Given the description of an element on the screen output the (x, y) to click on. 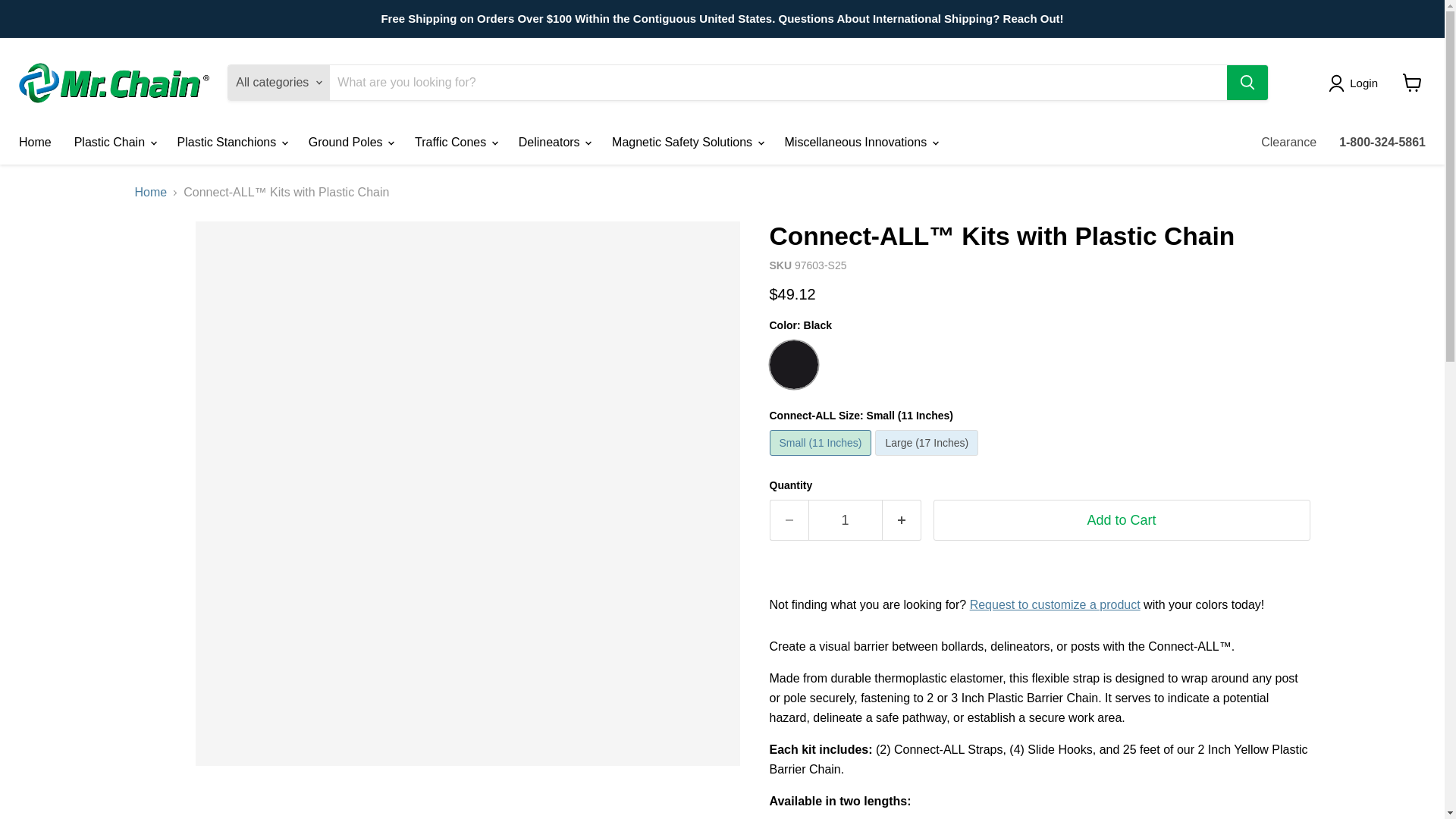
View Cart (1411, 82)
Request A Customized Product (1054, 604)
Login (1355, 83)
Home (34, 142)
1 (845, 520)
